Given the description of an element on the screen output the (x, y) to click on. 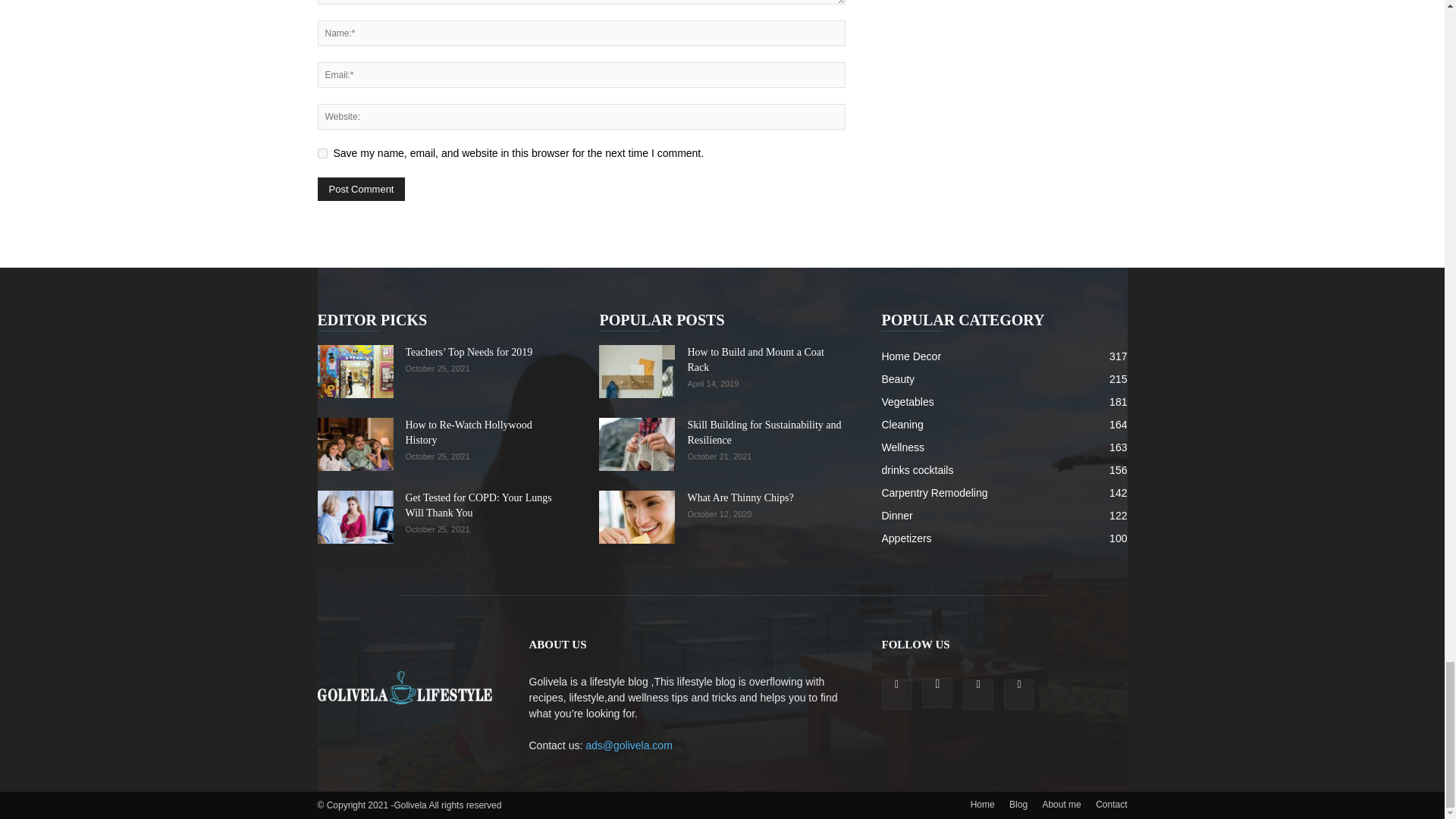
Post Comment (360, 188)
yes (321, 153)
